Given the description of an element on the screen output the (x, y) to click on. 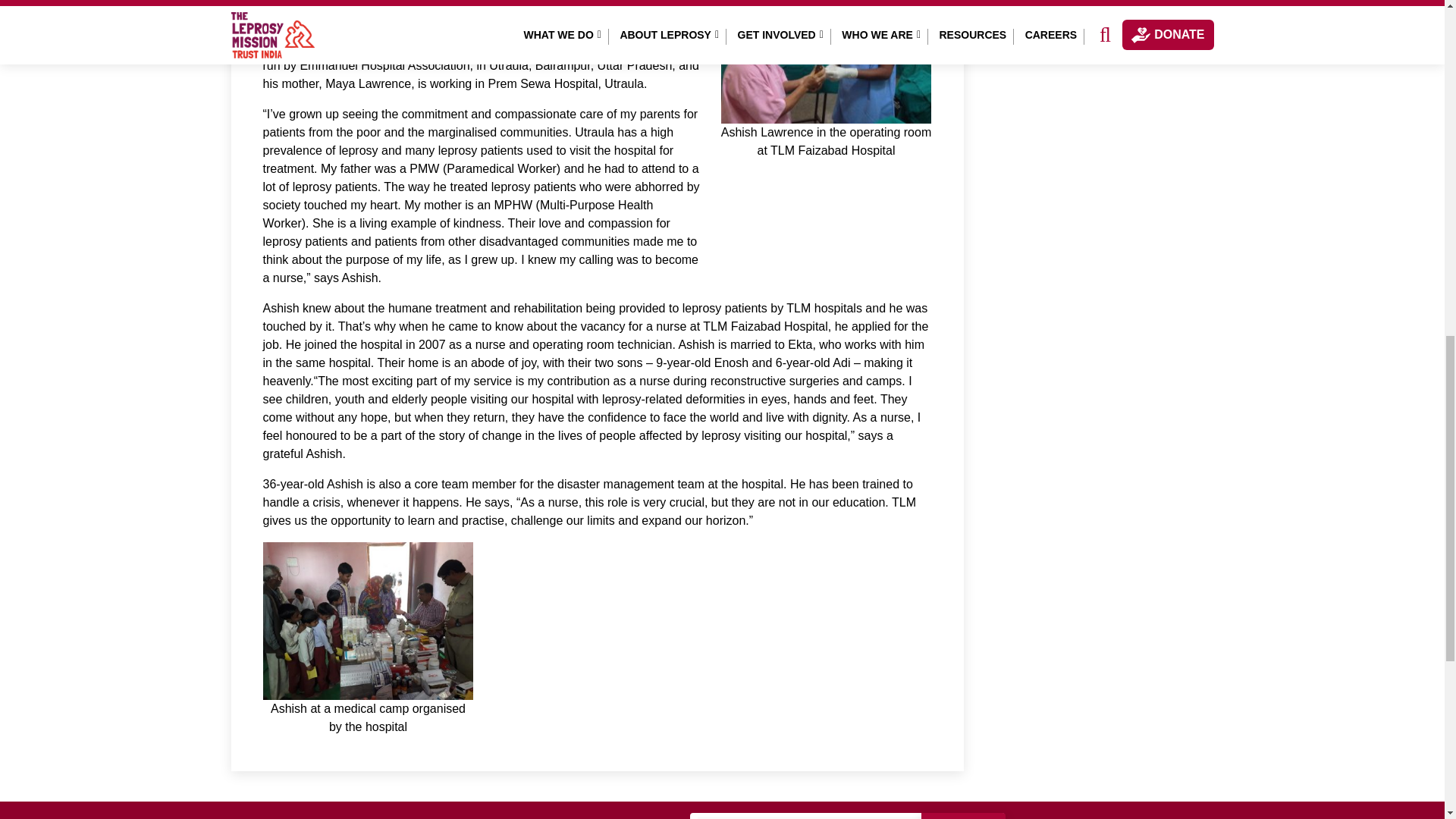
Subscribe (963, 816)
